Given the description of an element on the screen output the (x, y) to click on. 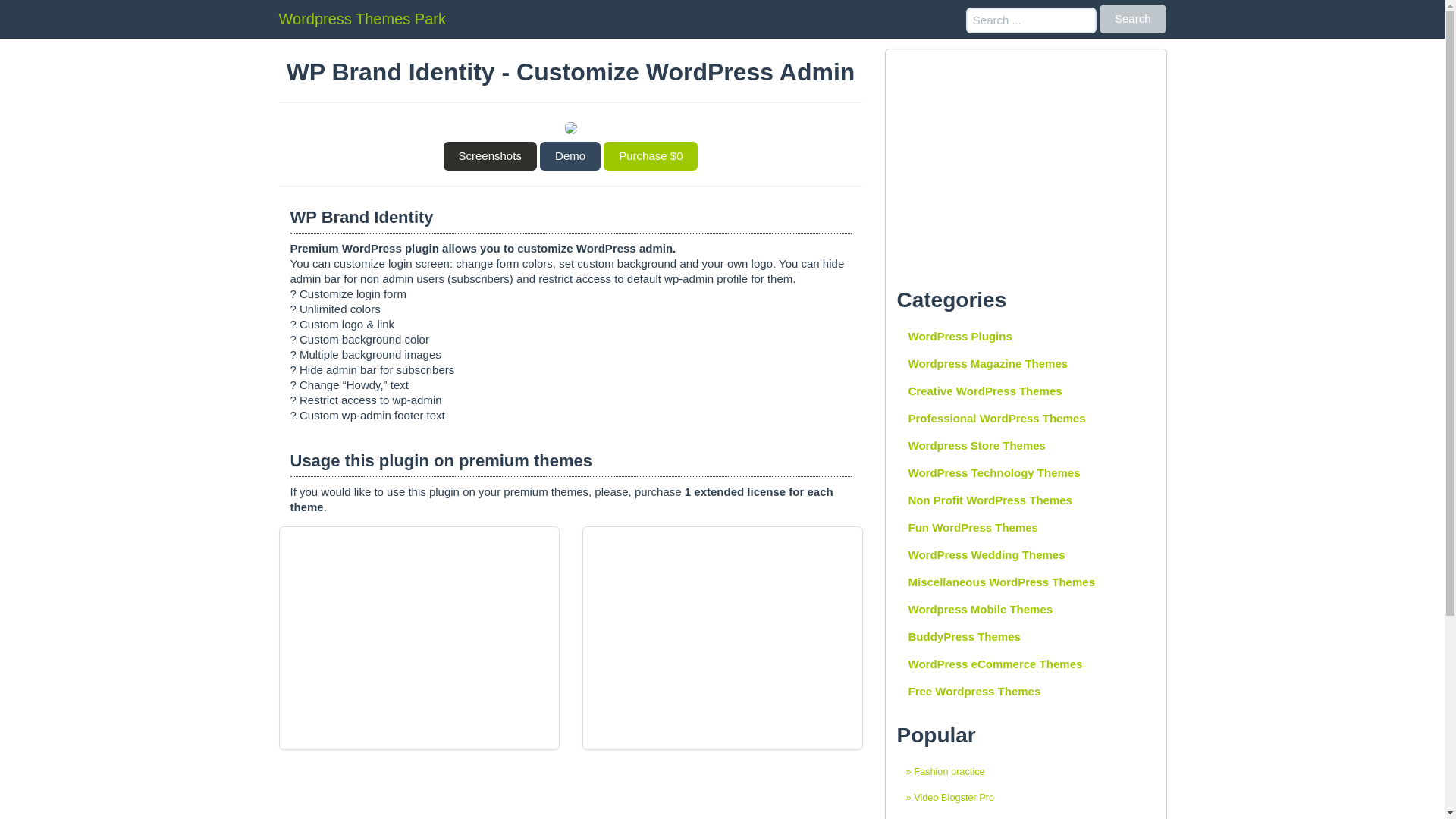
Miscellaneous WordPress Themes (1025, 582)
Free Wordpress Themes (1025, 691)
BuddyPress Themes (1025, 636)
Search (1132, 18)
Non Profit WordPress Themes (1025, 500)
Screenshots (488, 155)
WordPress Technology Themes (1025, 472)
WordPress Plugins (1025, 336)
Wordpress Themes Park (362, 18)
Creative WordPress Themes (1025, 390)
